Given the description of an element on the screen output the (x, y) to click on. 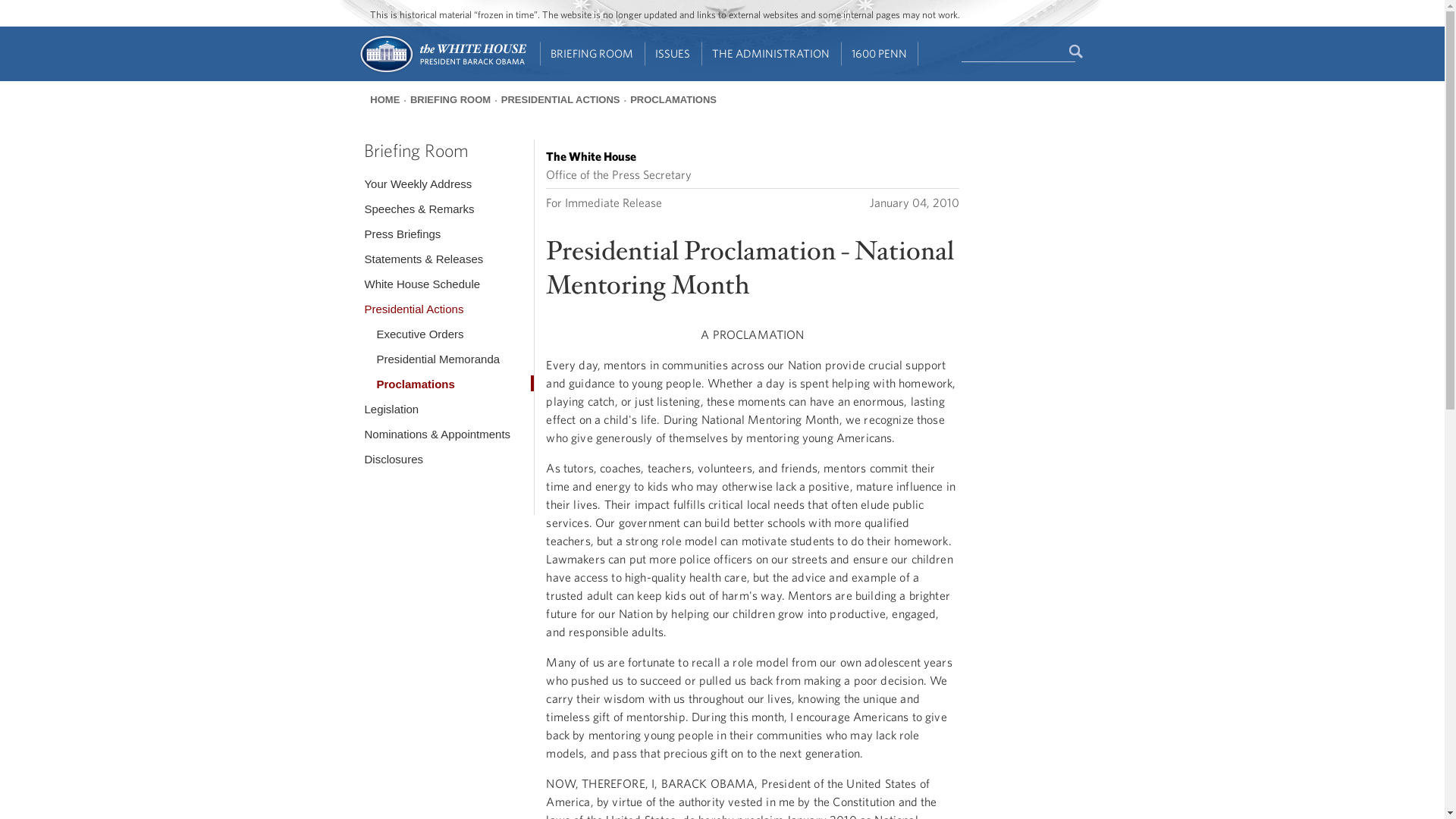
Enter the terms you wish to search for. (1017, 52)
ISSUES (673, 53)
BRIEFING ROOM (592, 53)
Search (1076, 51)
Home (441, 70)
